Given the description of an element on the screen output the (x, y) to click on. 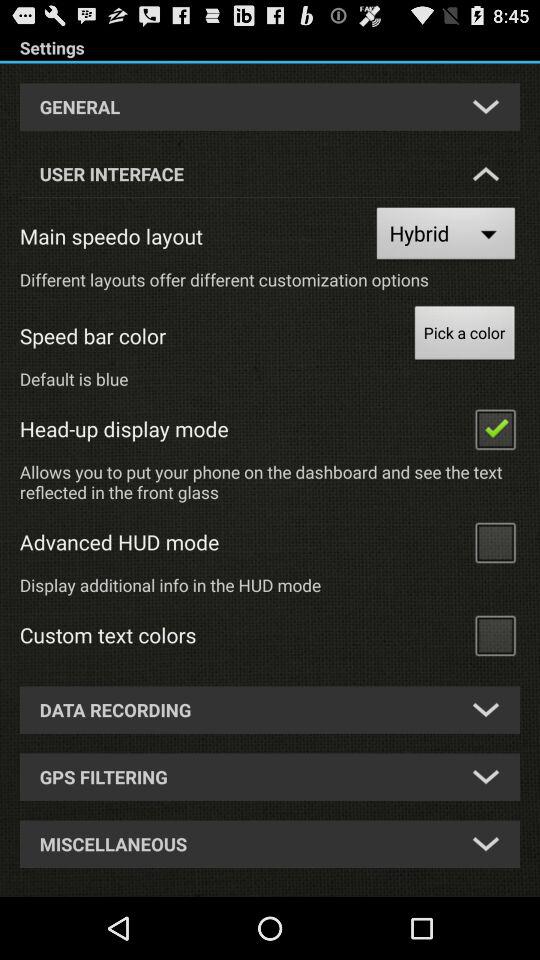
toggle custom text colors (495, 634)
